Given the description of an element on the screen output the (x, y) to click on. 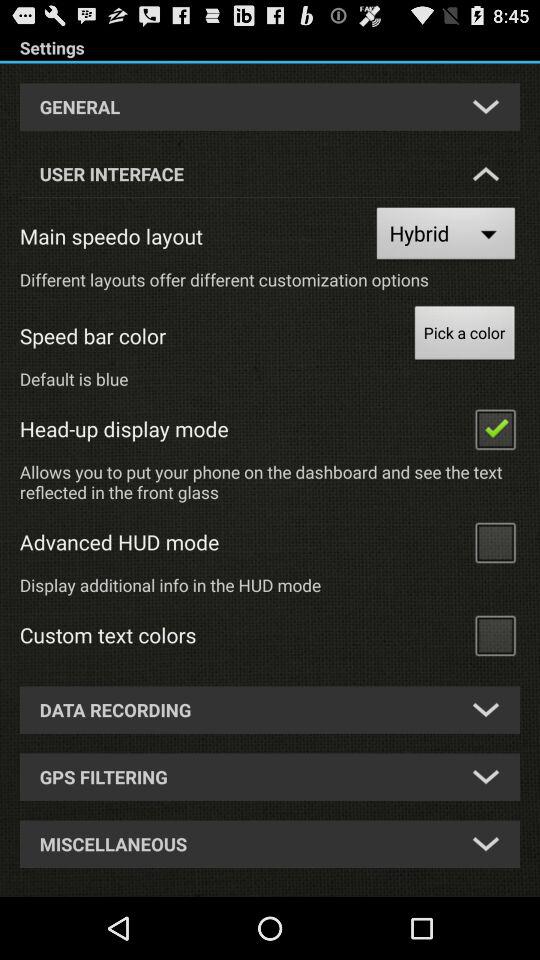
toggle custom text colors (495, 634)
